Given the description of an element on the screen output the (x, y) to click on. 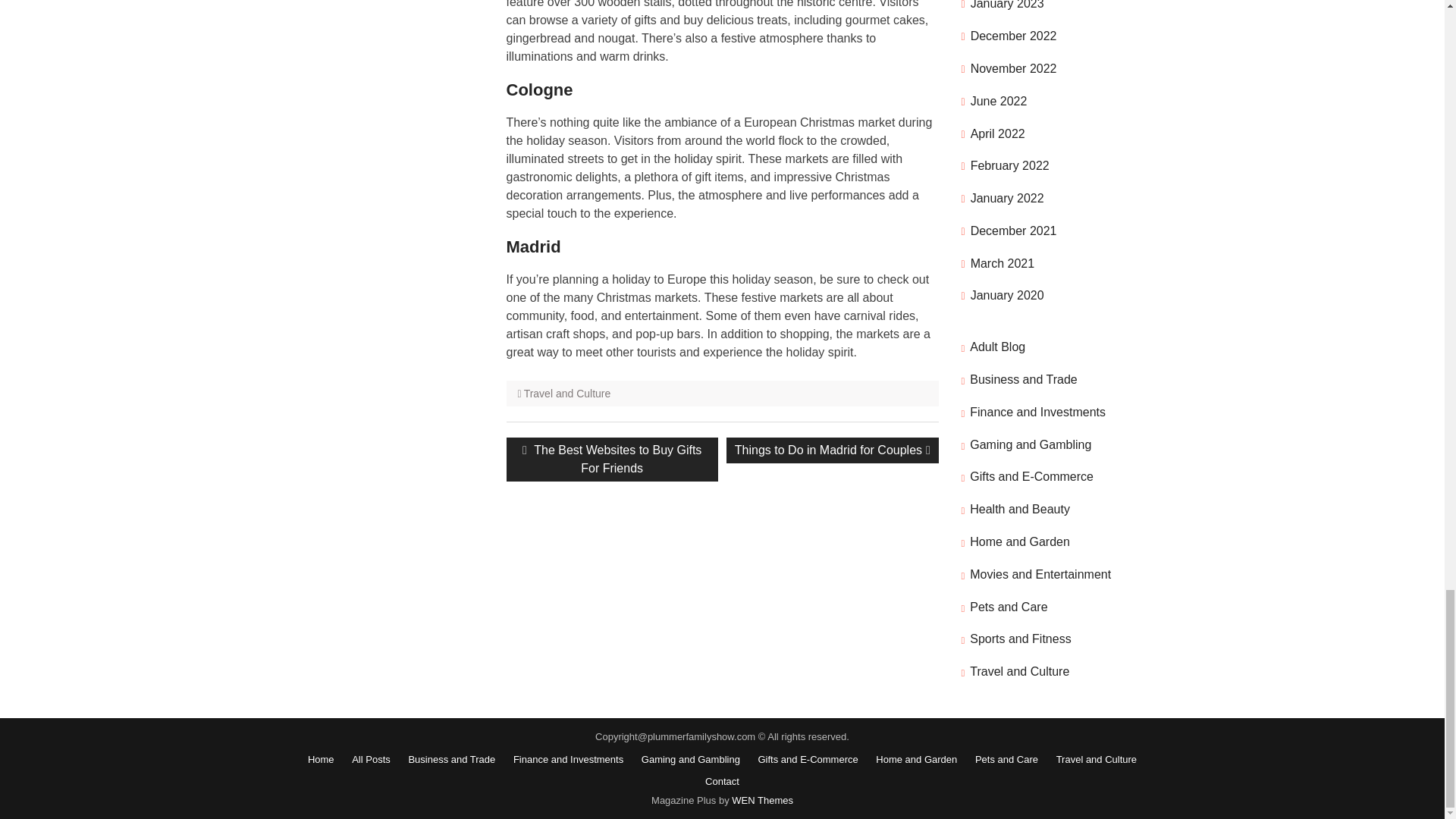
Travel and Culture (611, 459)
